Given the description of an element on the screen output the (x, y) to click on. 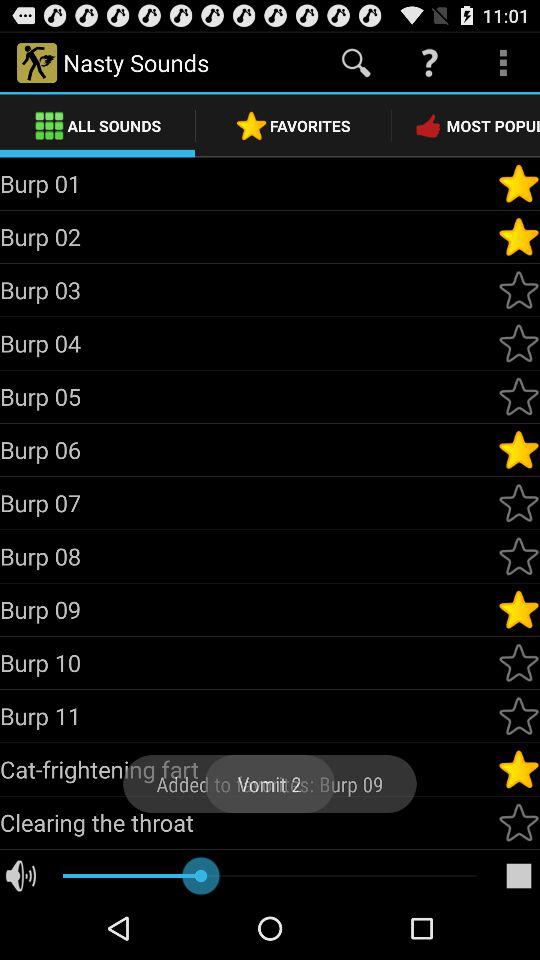
add burp05 to favorites (519, 396)
